Given the description of an element on the screen output the (x, y) to click on. 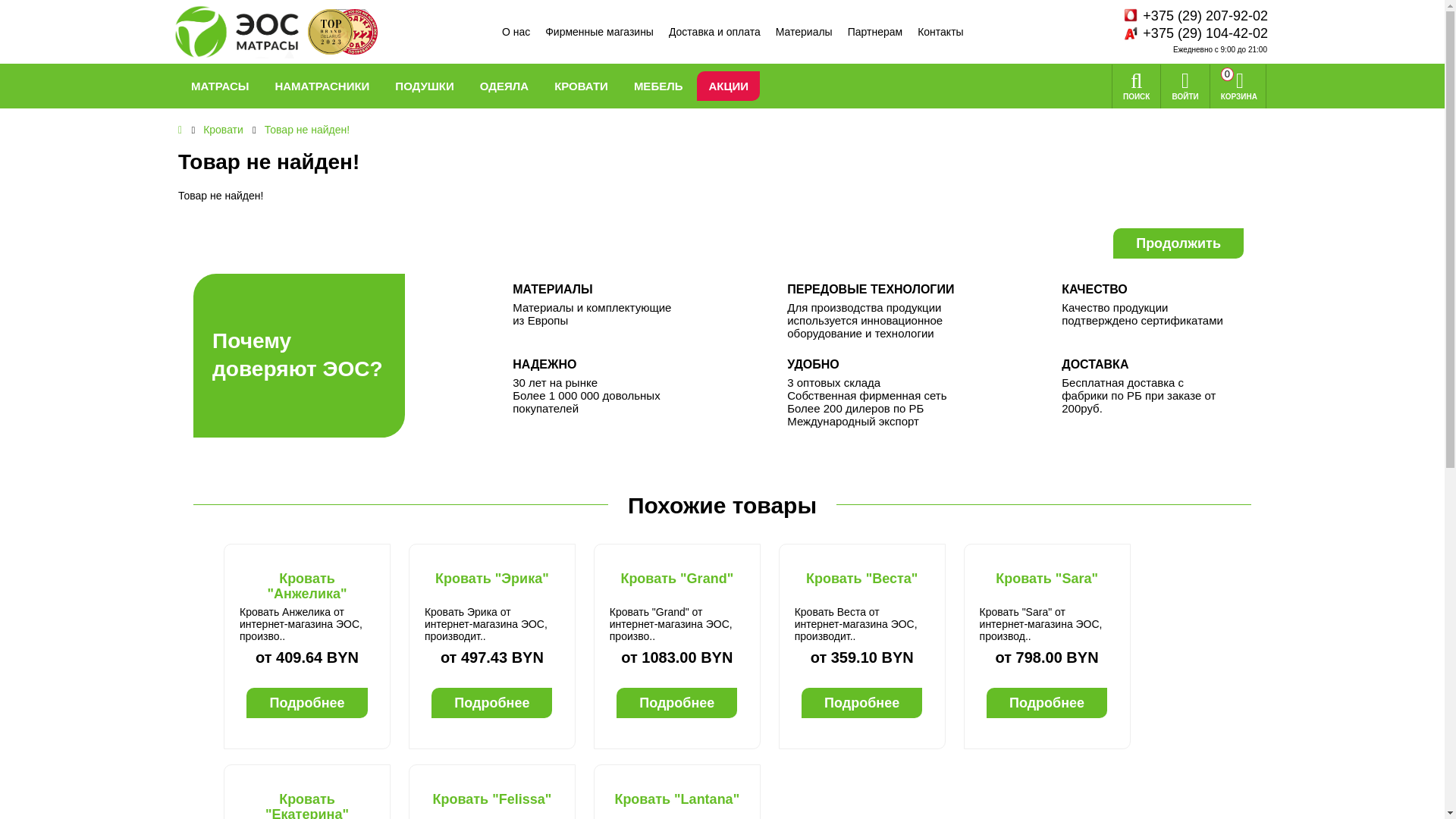
+375 (29) 104-42-02 Element type: text (1205, 33)
+375 (29) 207-92-02 Element type: text (1205, 16)
